Given the description of an element on the screen output the (x, y) to click on. 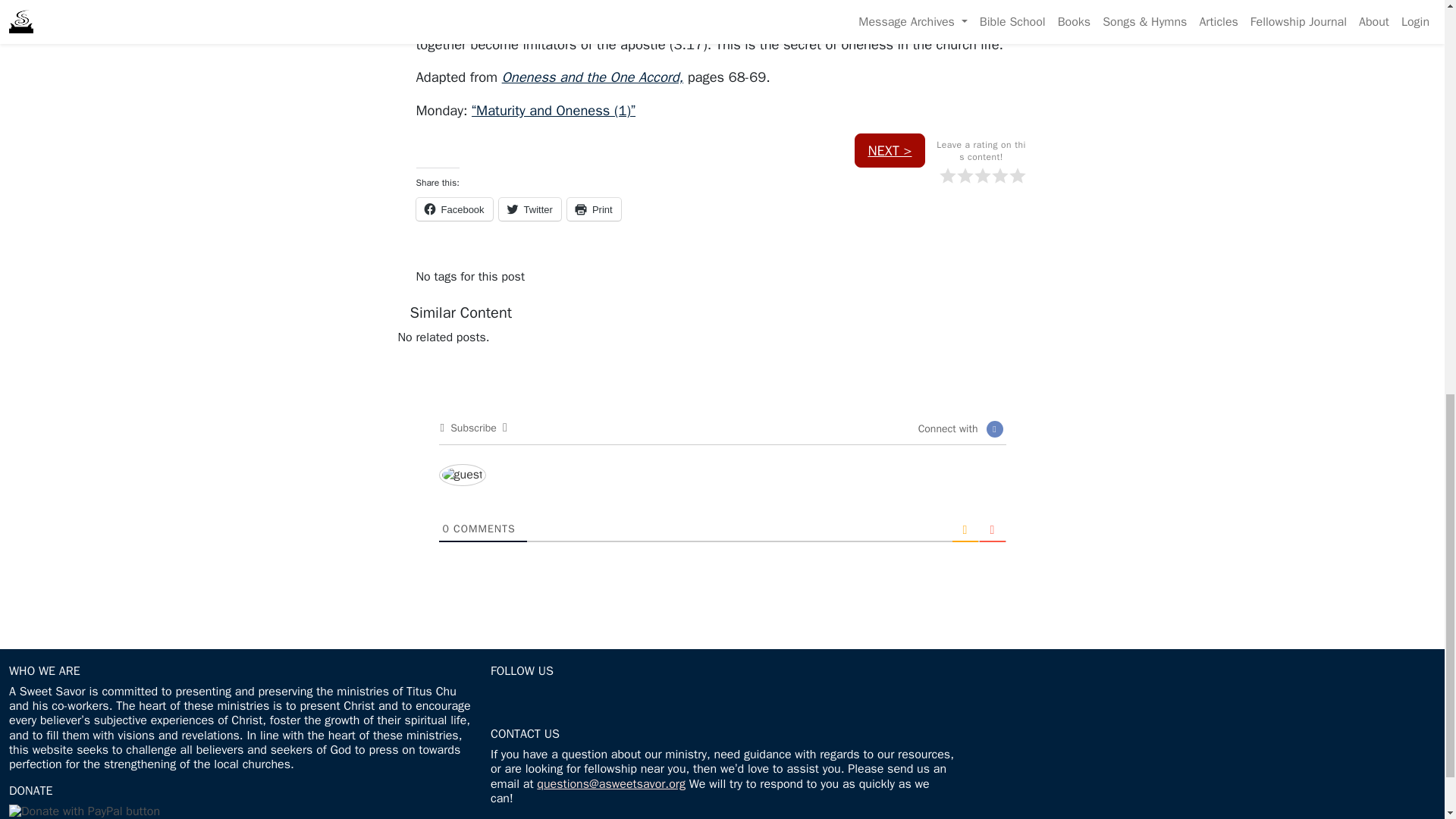
Go to the entry for this "Daily Word." (552, 109)
Click to share on Twitter (529, 208)
Oneness and the One Accord, (592, 76)
Print (594, 208)
Click to print (594, 208)
Twitter (529, 208)
Facebook (453, 208)
Go to the listing for this book. (592, 76)
Click to share on Facebook (453, 208)
